Given the description of an element on the screen output the (x, y) to click on. 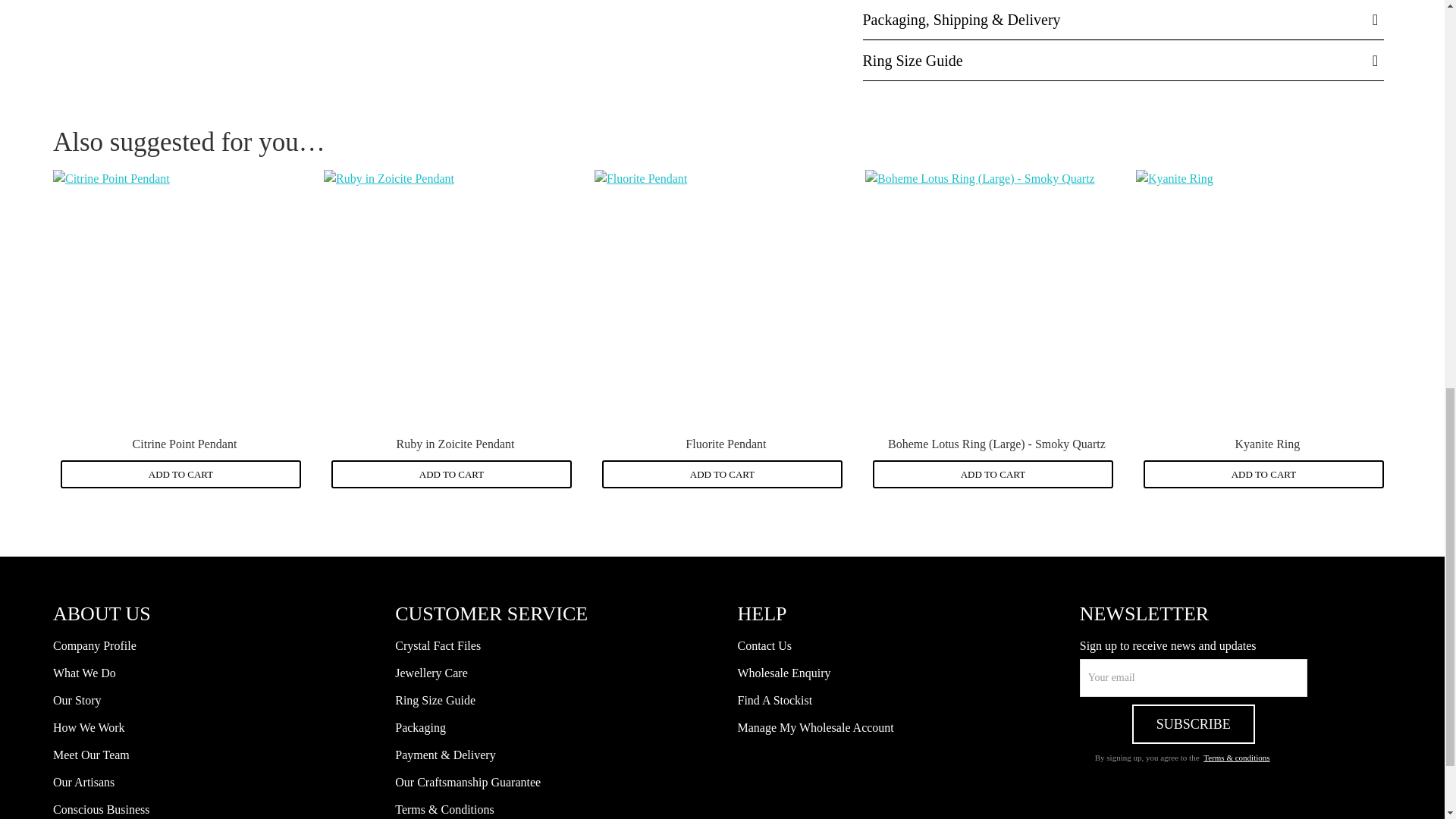
Fluorite Pendant (722, 297)
Citrine Point Pendant (180, 297)
Ruby in Zoicite Pendant (451, 297)
